Given the description of an element on the screen output the (x, y) to click on. 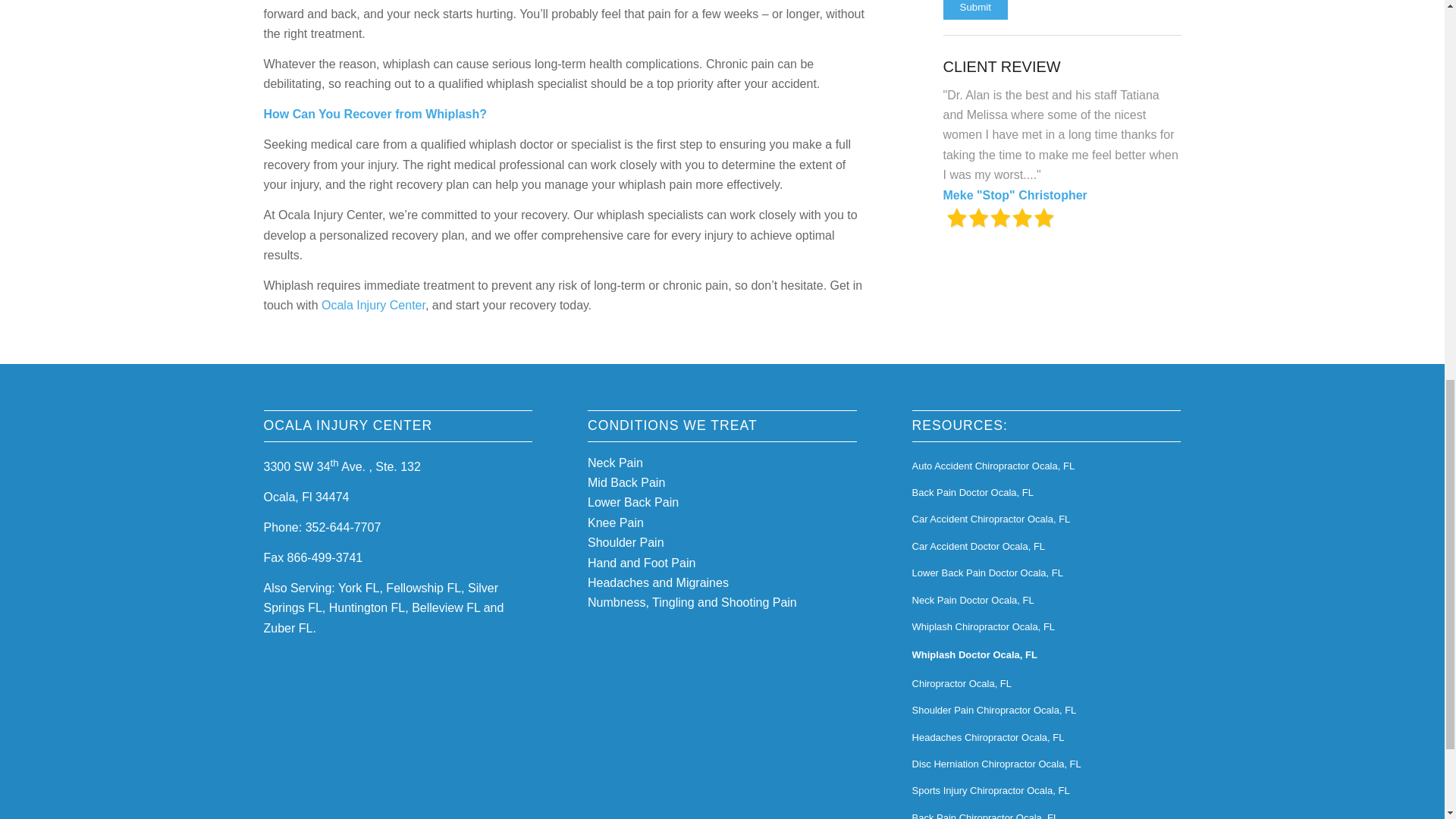
Ocala Injury Center (373, 305)
Chiropractor Ocala, FL (1046, 683)
Lower Back Pain Doctor Ocala, FL (1046, 573)
Shoulder Pain Chiropractor Ocala, FL (1046, 710)
Sports Injury Chiropractor Ocala, FL (1046, 791)
Headaches Chiropractor Ocala, FL (1046, 737)
Submit (975, 9)
Back Pain Doctor Ocala, FL (1046, 492)
Car Accident Doctor Ocala, FL (1046, 546)
Disc Herniation Chiropractor Ocala, FL (1046, 764)
Car Accident Chiropractor Ocala, FL (1046, 519)
Neck Pain Doctor Ocala, FL (1046, 601)
Submit (975, 9)
Whiplash Doctor Ocala, FL (1046, 655)
352-644-7707 (343, 526)
